Given the description of an element on the screen output the (x, y) to click on. 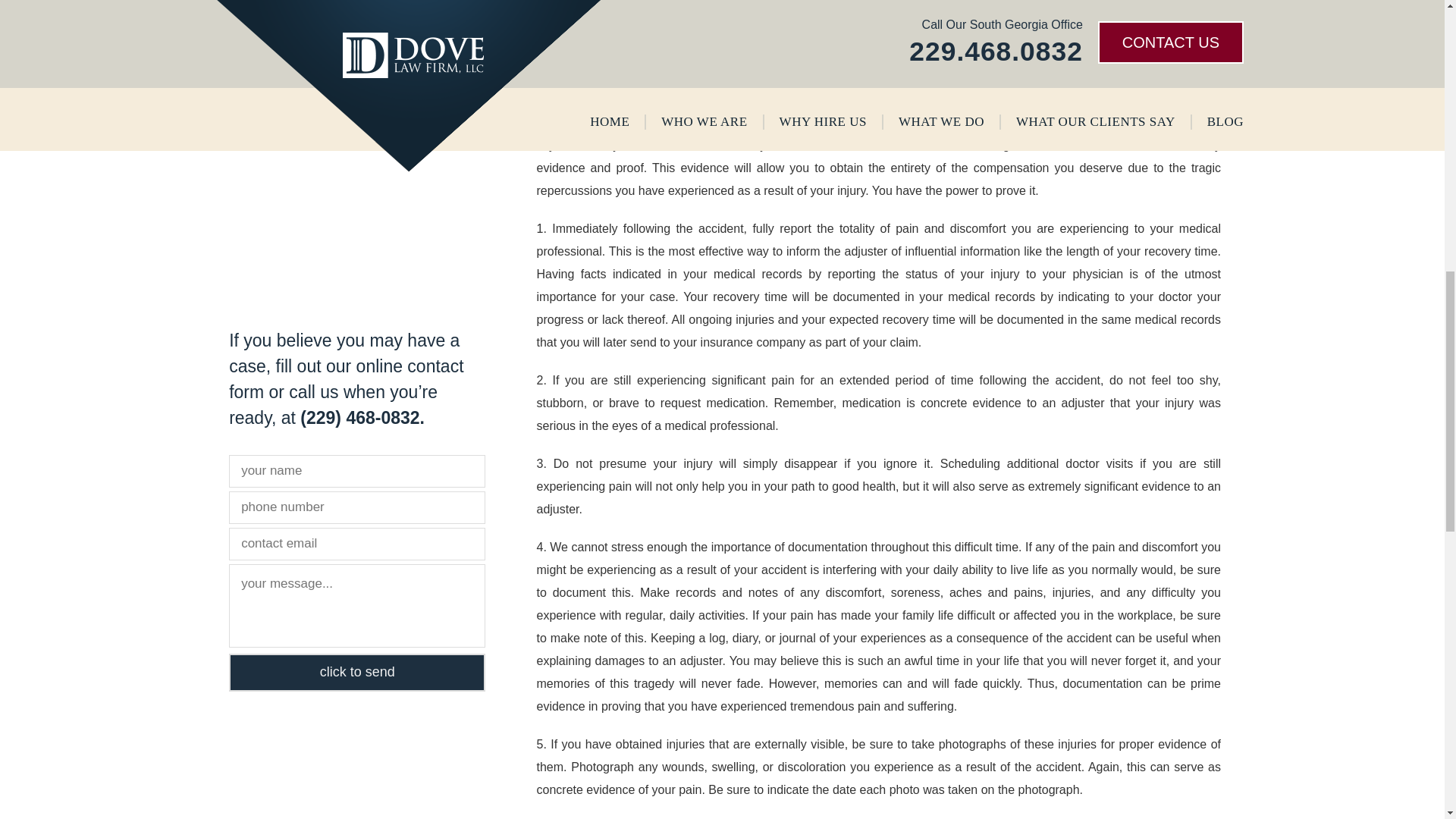
click to send (356, 672)
accident (900, 61)
Vehicle Accidents (294, 6)
click to send (356, 672)
